Given the description of an element on the screen output the (x, y) to click on. 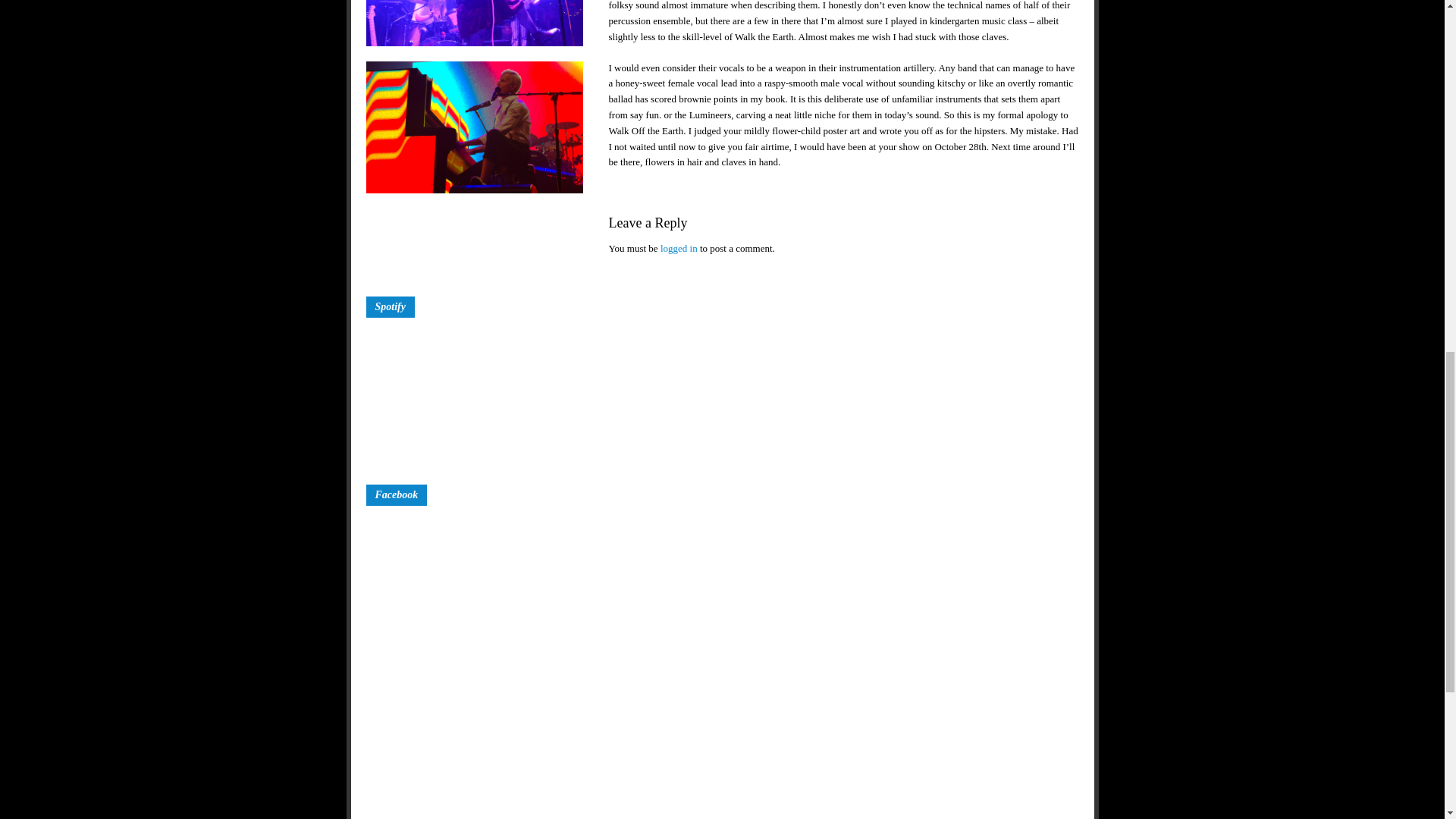
logged in (679, 5)
